Given the description of an element on the screen output the (x, y) to click on. 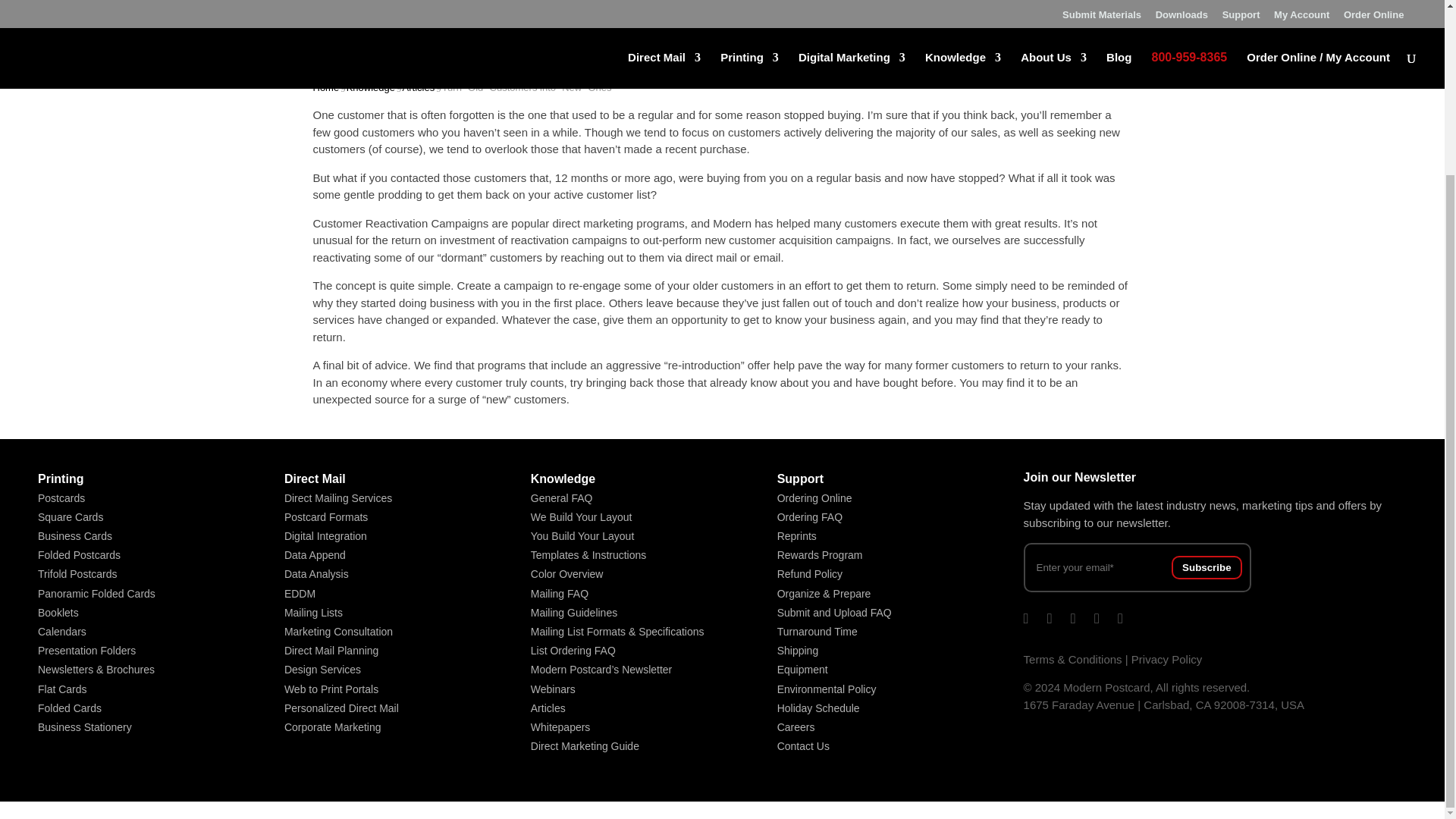
Postcards (60, 498)
Folded Cards (69, 707)
Square Cards (70, 517)
Booklets (57, 612)
Postcard Formats (325, 517)
Panoramic Folded Cards (96, 593)
Calendars (61, 631)
Flat Cards (62, 689)
Folded Postcards (78, 554)
Direct Mailing Services (337, 498)
